Given the description of an element on the screen output the (x, y) to click on. 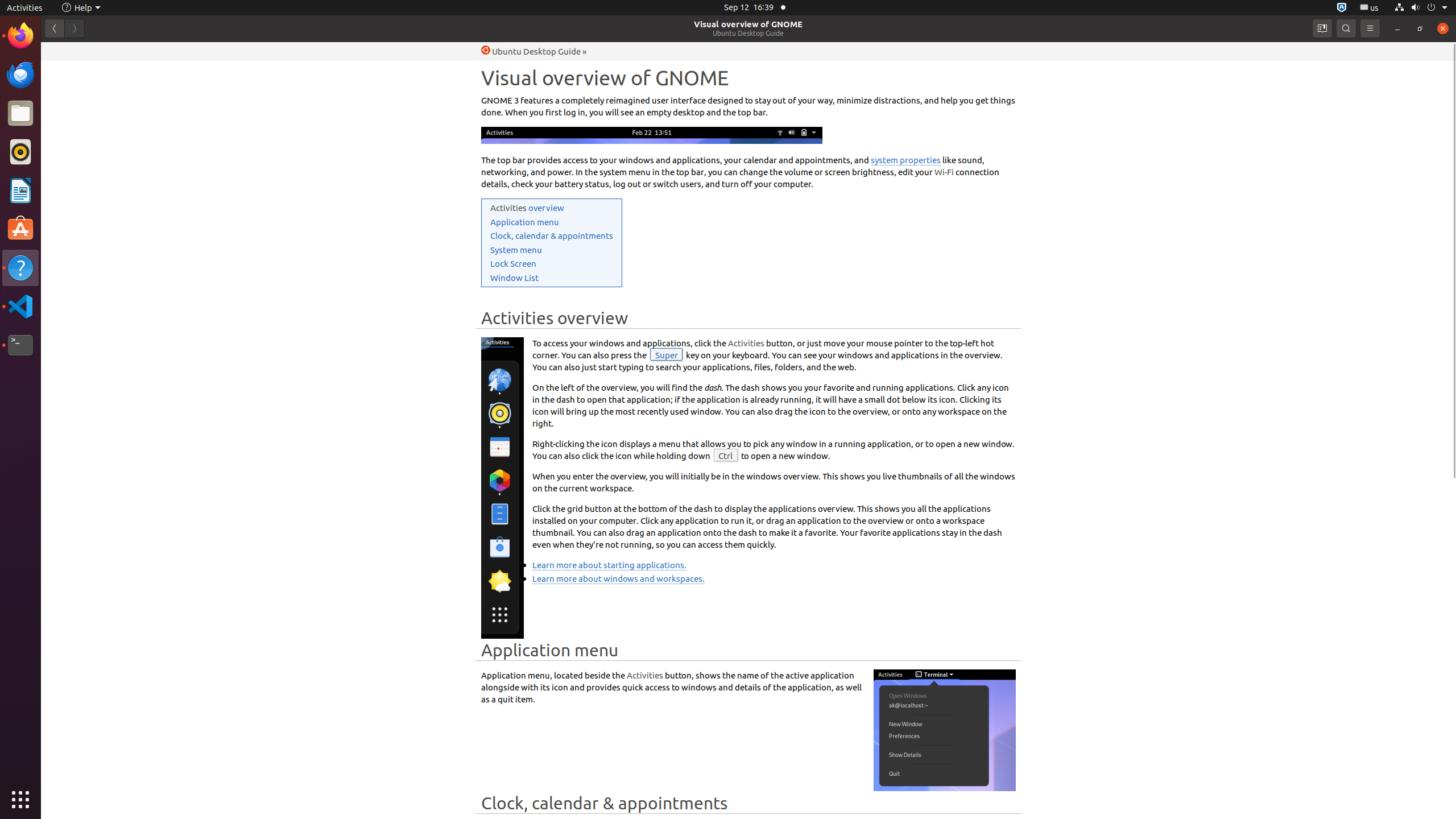
Application menu Element type: link (524, 221)
Firefox Web Browser Element type: push-button (20, 35)
Visual overview of GNOME Element type: label (748, 24)
